Given the description of an element on the screen output the (x, y) to click on. 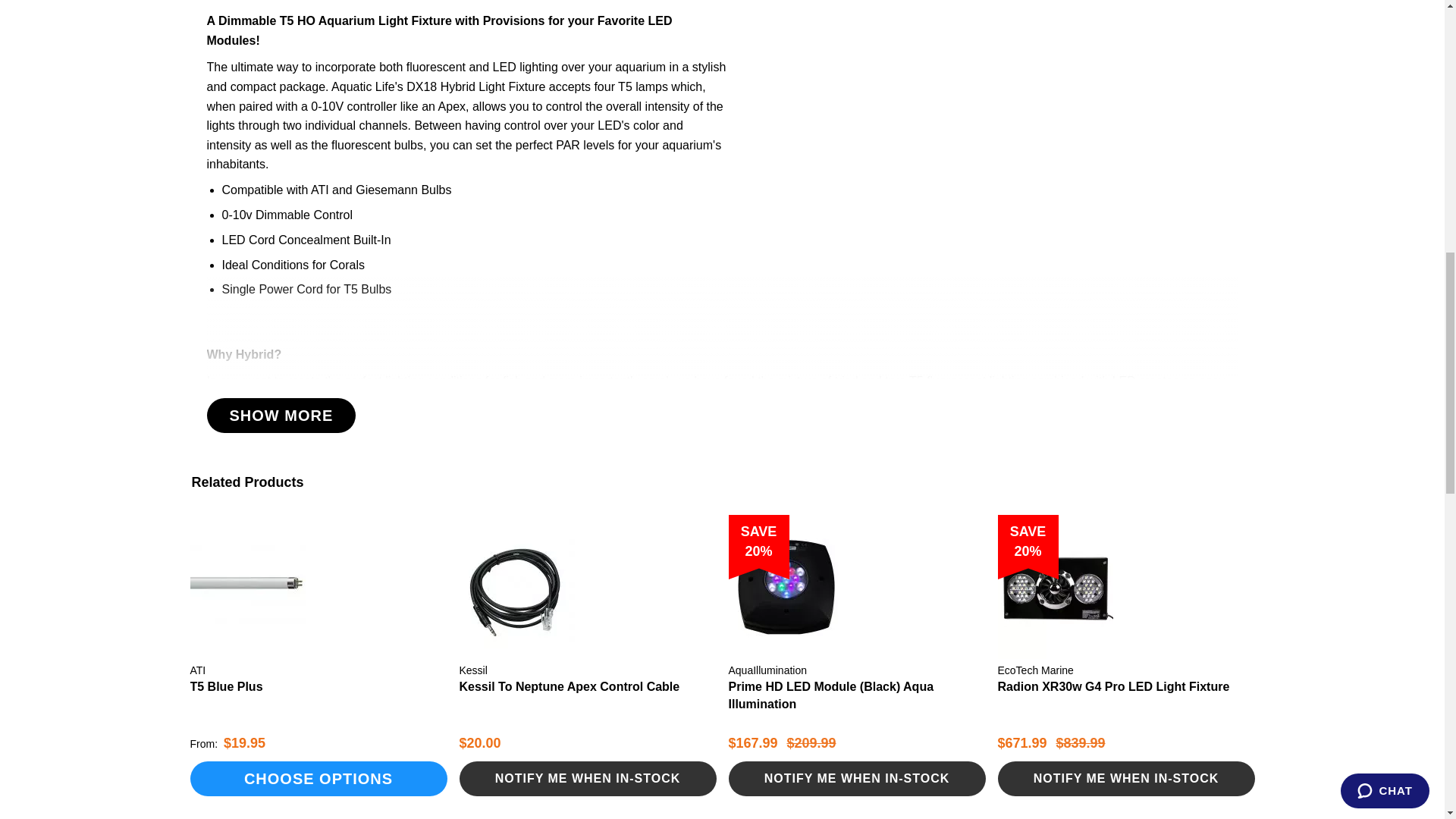
T5 Blue Plus (225, 686)
Kessil to Neptune Apex Control Cable (569, 686)
